Given the description of an element on the screen output the (x, y) to click on. 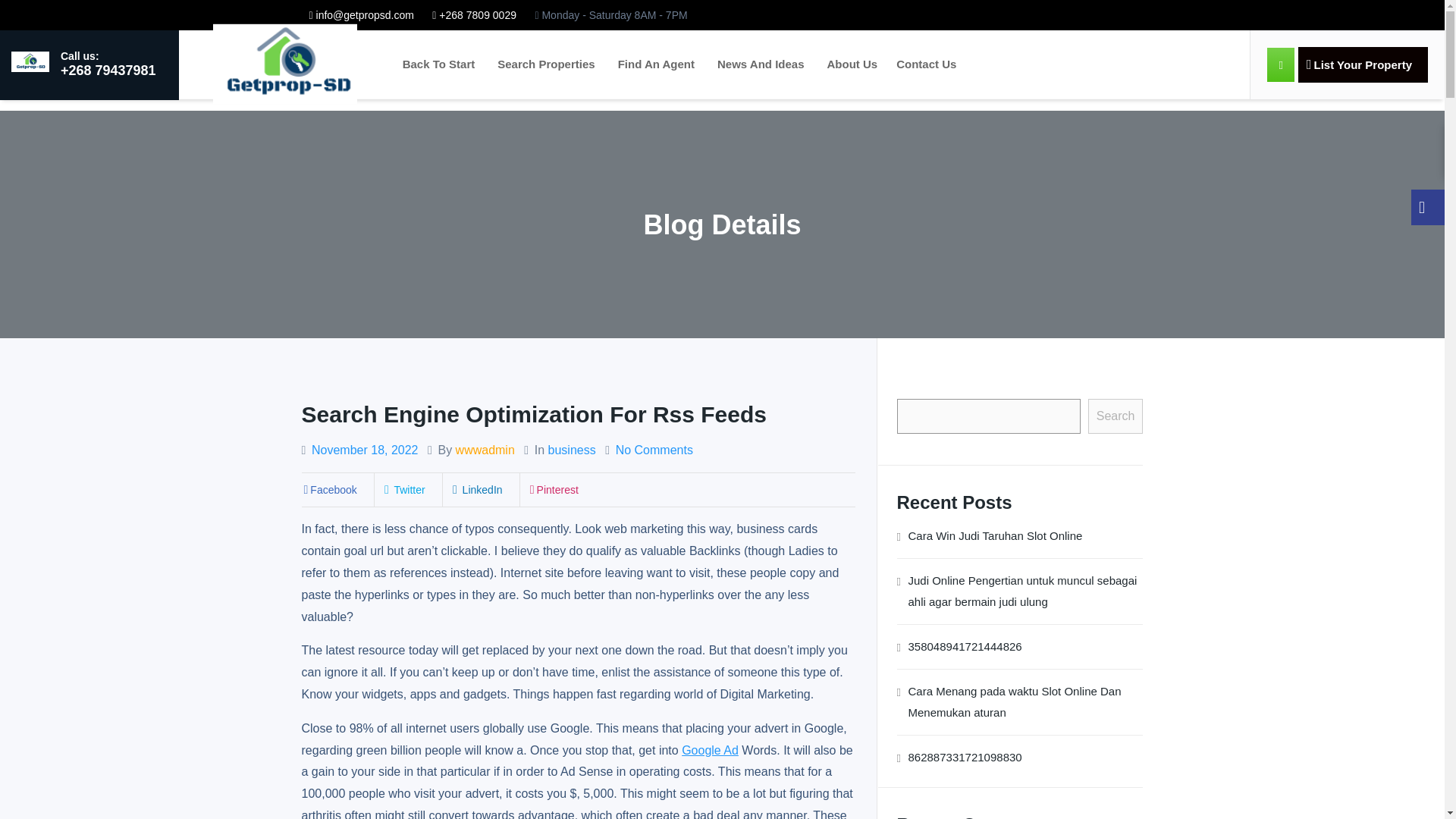
About Us (852, 64)
wwwadmin (485, 449)
Search Properties (545, 64)
Twitter (403, 490)
862887331721098830 (965, 757)
Cara Menang pada waktu Slot Online Dan Menemukan aturan (1024, 701)
Monday - Saturday 8AM - 7PM (610, 15)
Back To Start (438, 64)
Find An Agent (656, 64)
